Given the description of an element on the screen output the (x, y) to click on. 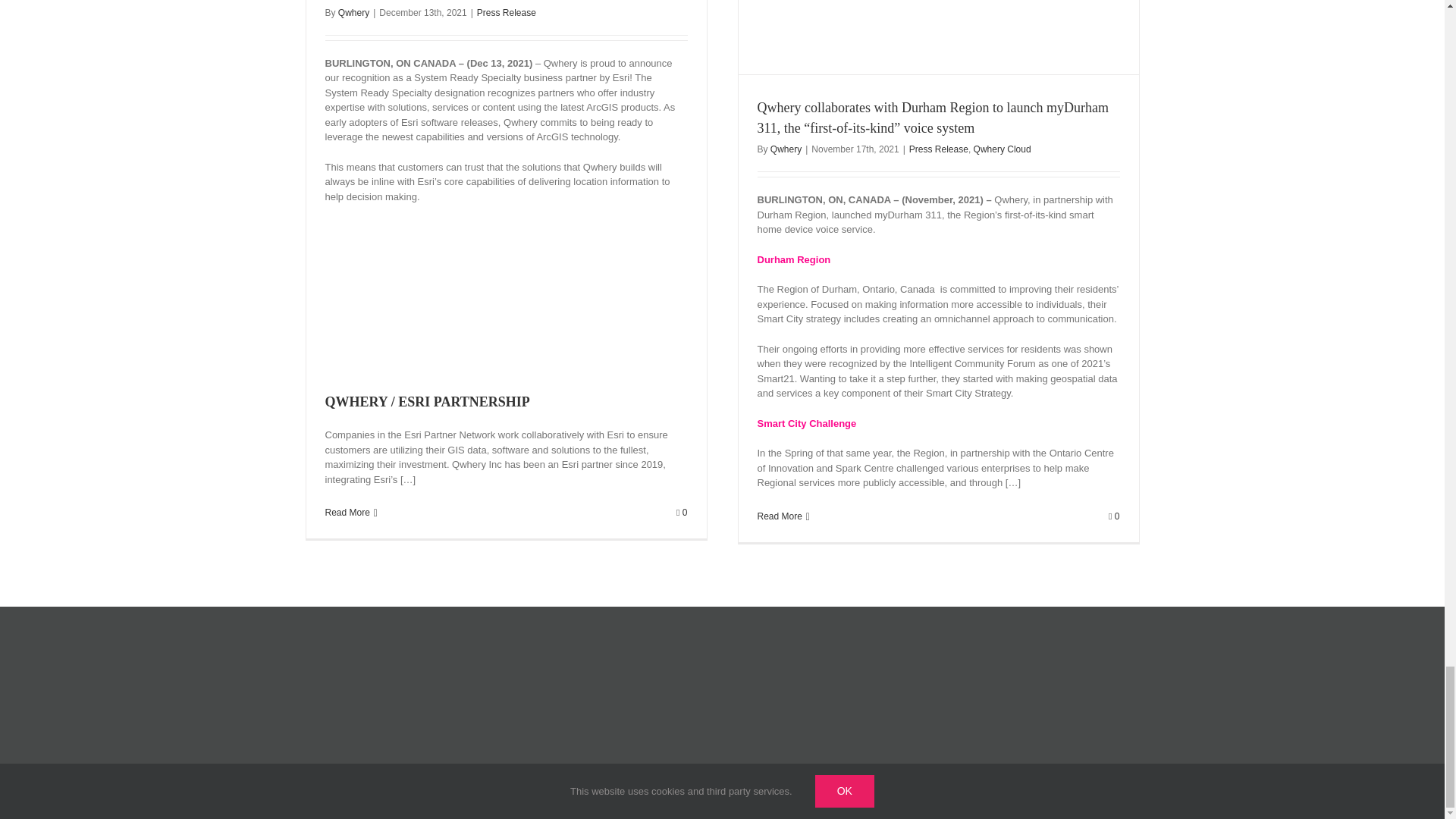
Posts by Qwhery (786, 149)
Posts by Qwhery (353, 12)
